Given the description of an element on the screen output the (x, y) to click on. 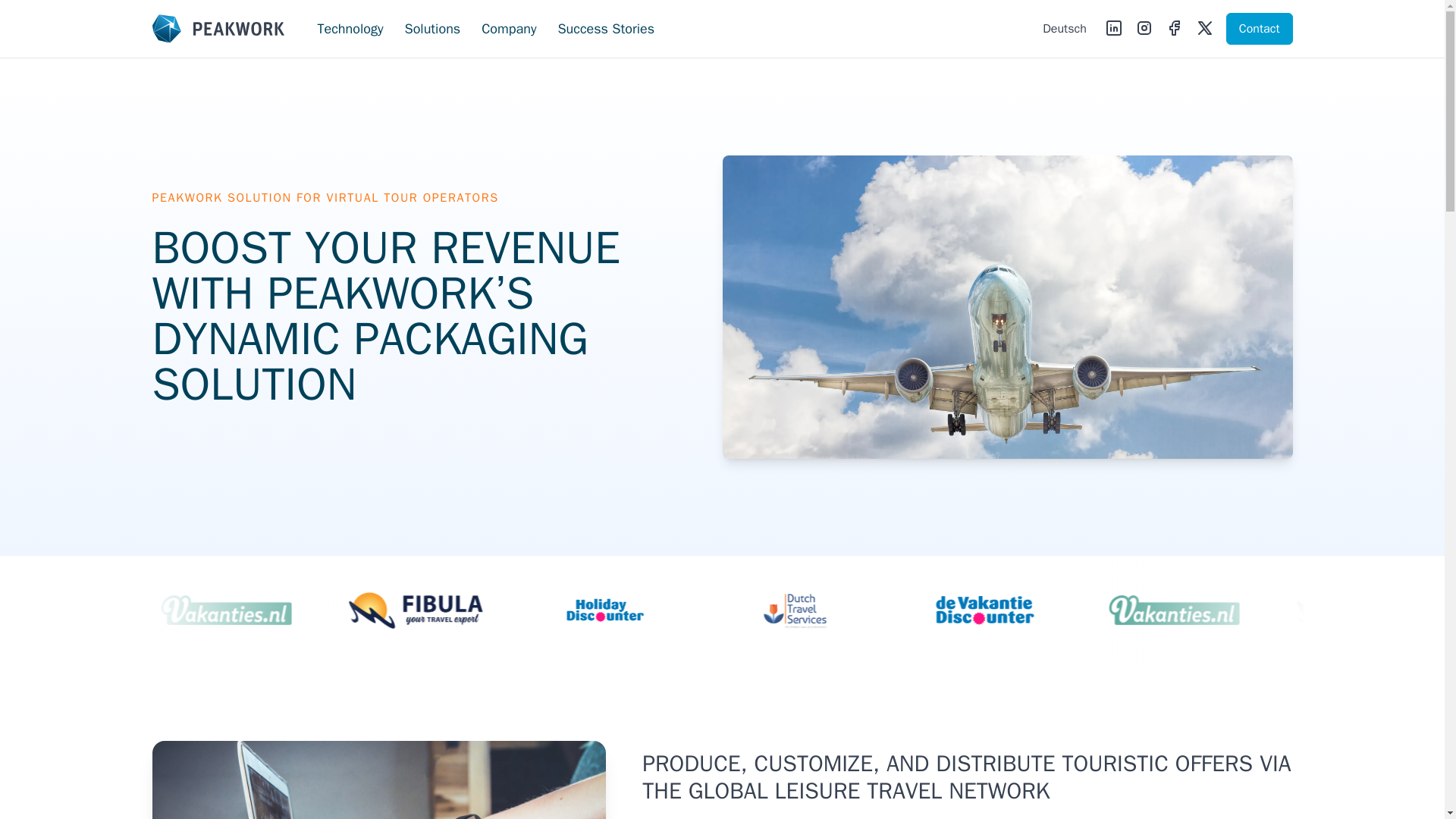
Contact (1258, 29)
Success Stories (605, 28)
Peakwork GmbH (217, 28)
Deutsch (1064, 28)
